Given the description of an element on the screen output the (x, y) to click on. 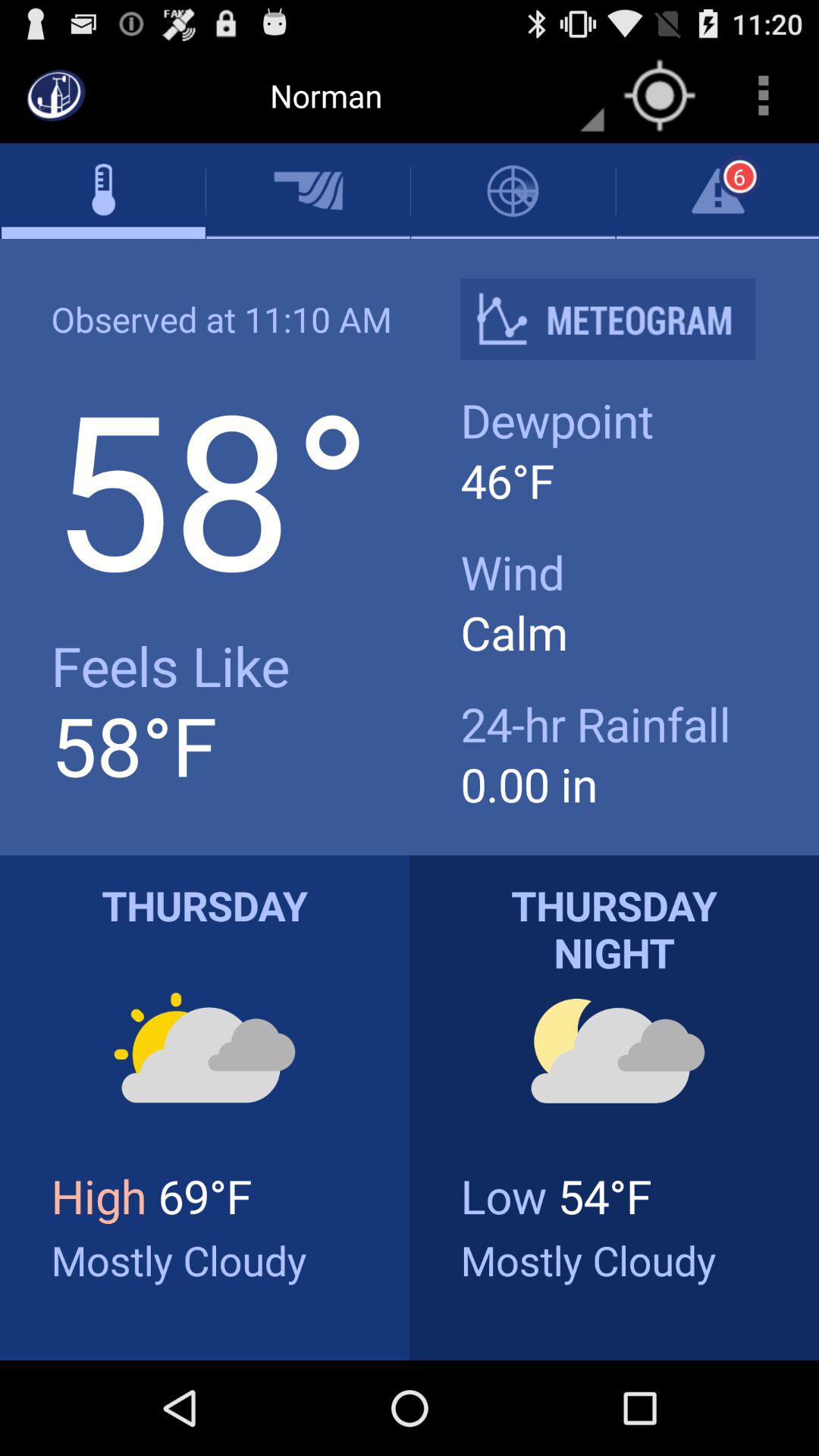
turn off the item to the right of the norman app (659, 95)
